Given the description of an element on the screen output the (x, y) to click on. 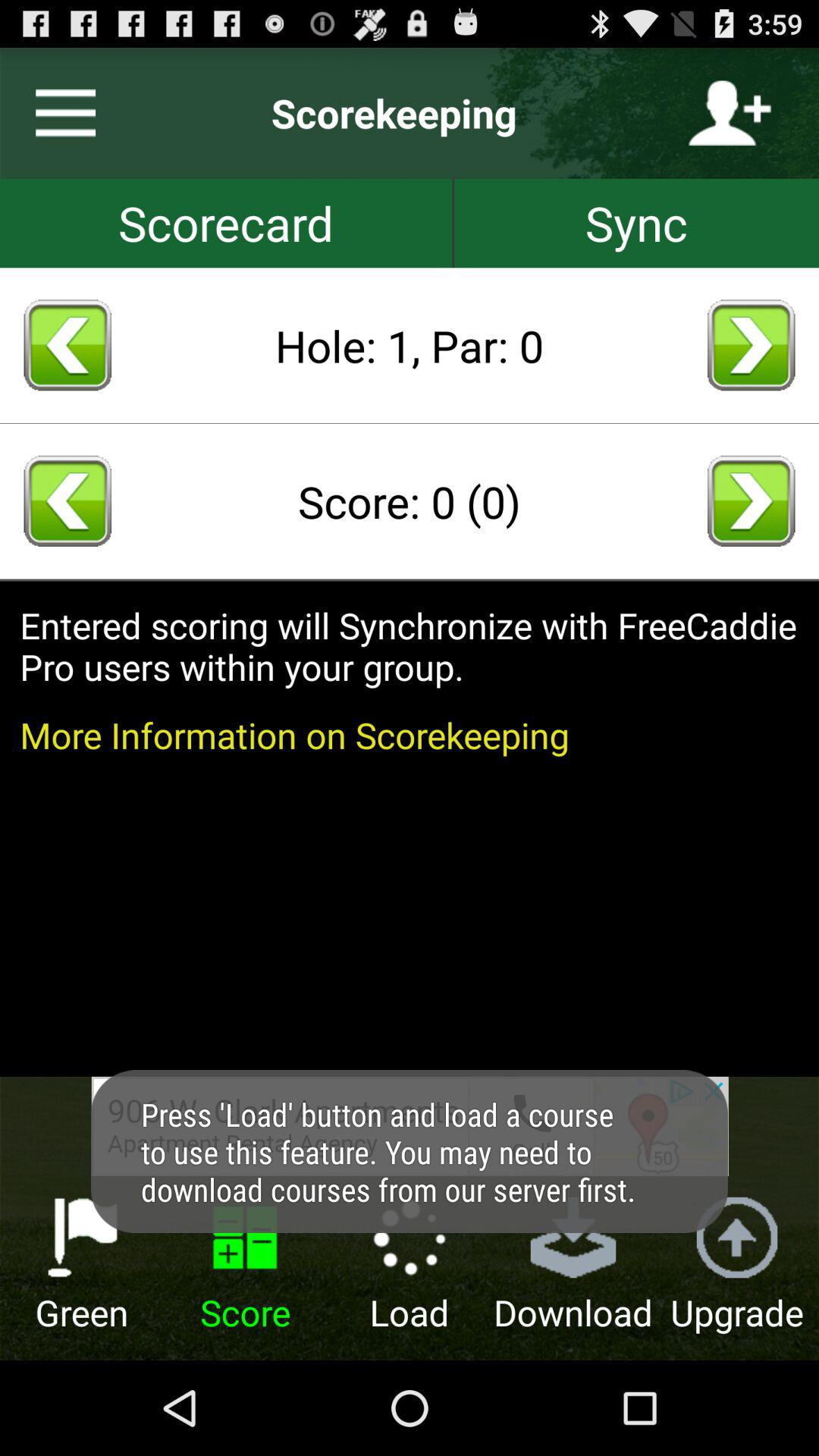
go to next (751, 500)
